Given the description of an element on the screen output the (x, y) to click on. 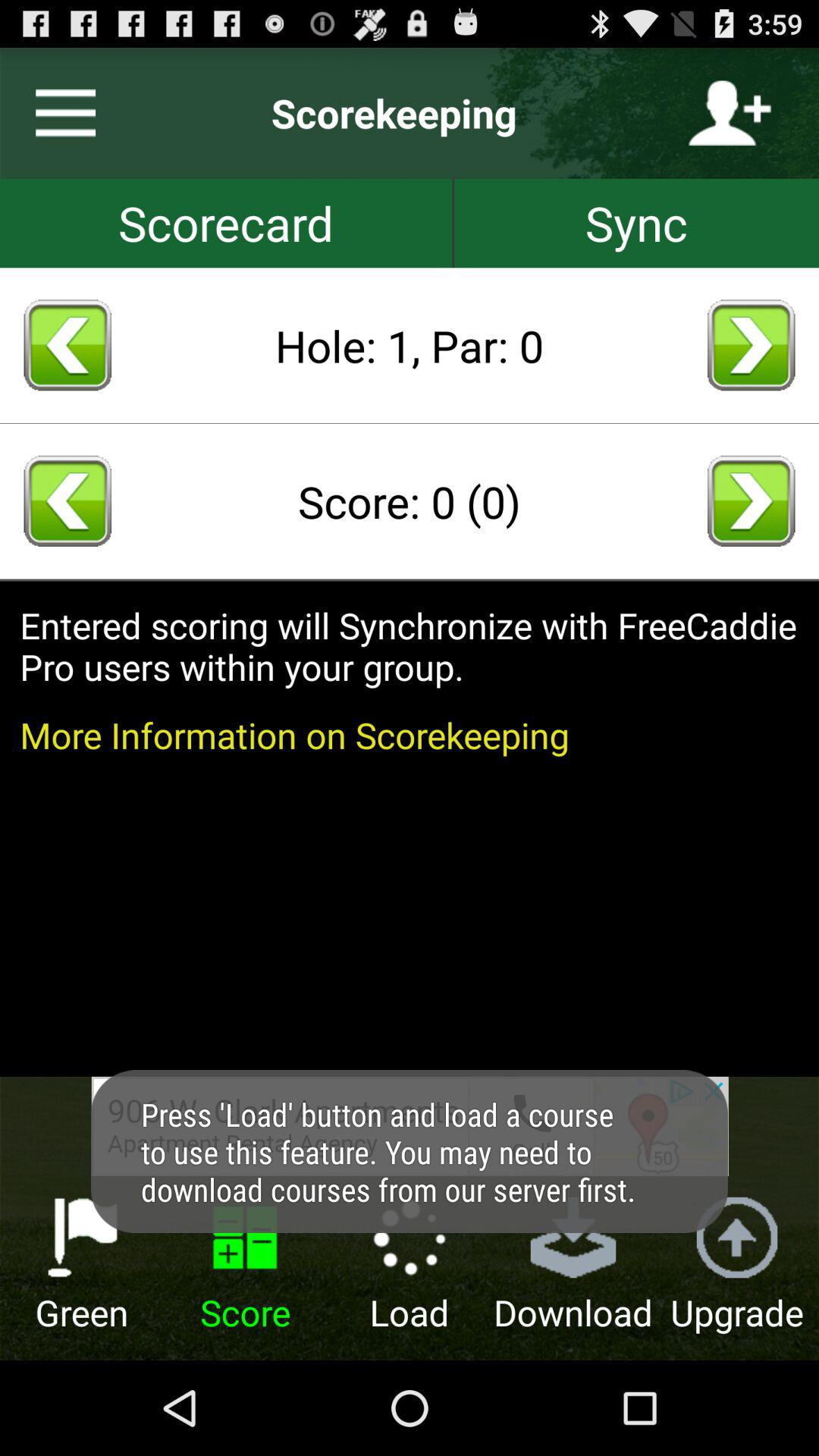
go to next (751, 500)
